Given the description of an element on the screen output the (x, y) to click on. 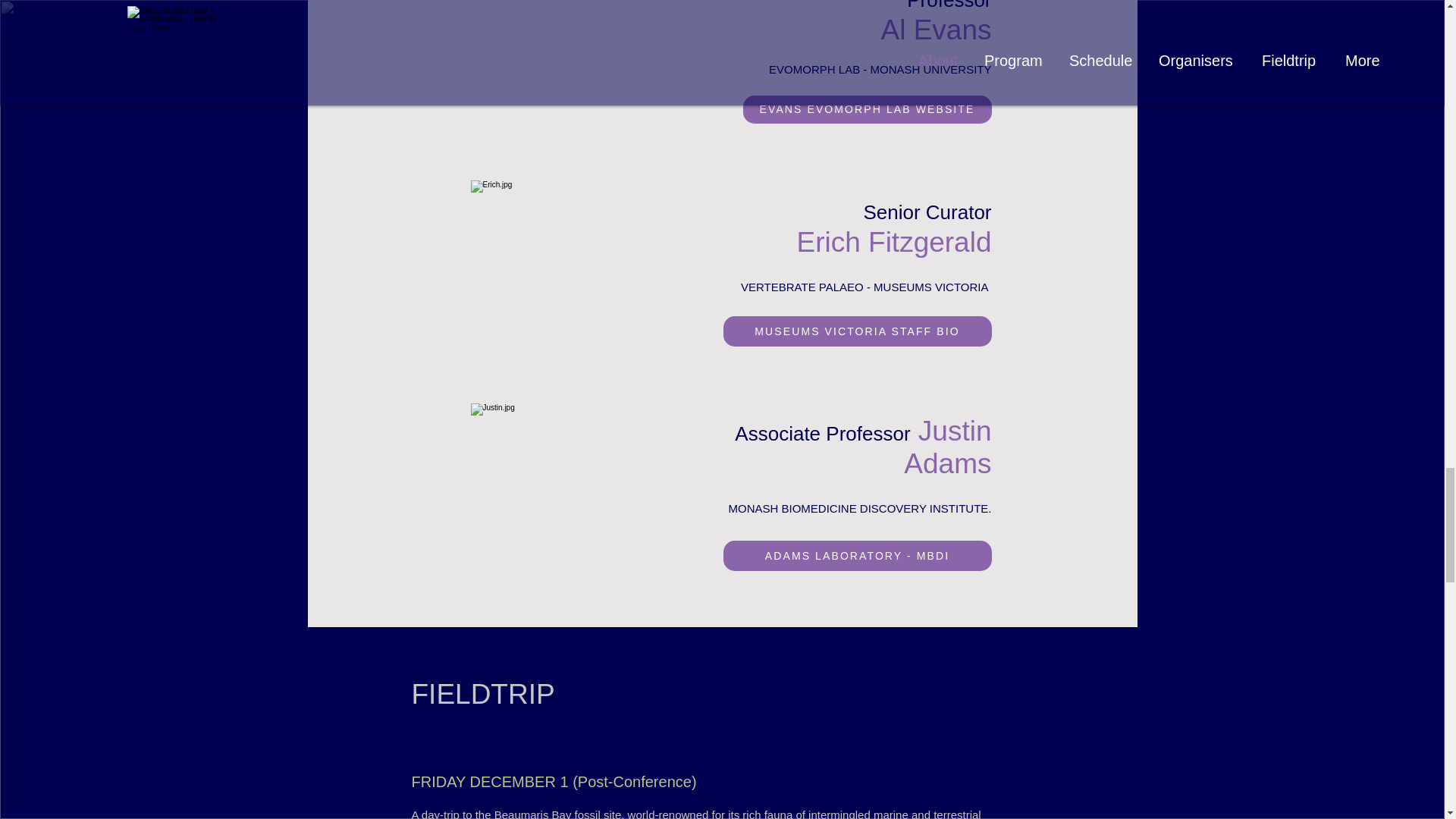
MUSEUMS VICTORIA STAFF BIO (857, 331)
EVANS EVOMORPH LAB WEBSITE (866, 109)
ADAMS LABORATORY - MBDI (857, 555)
